Given the description of an element on the screen output the (x, y) to click on. 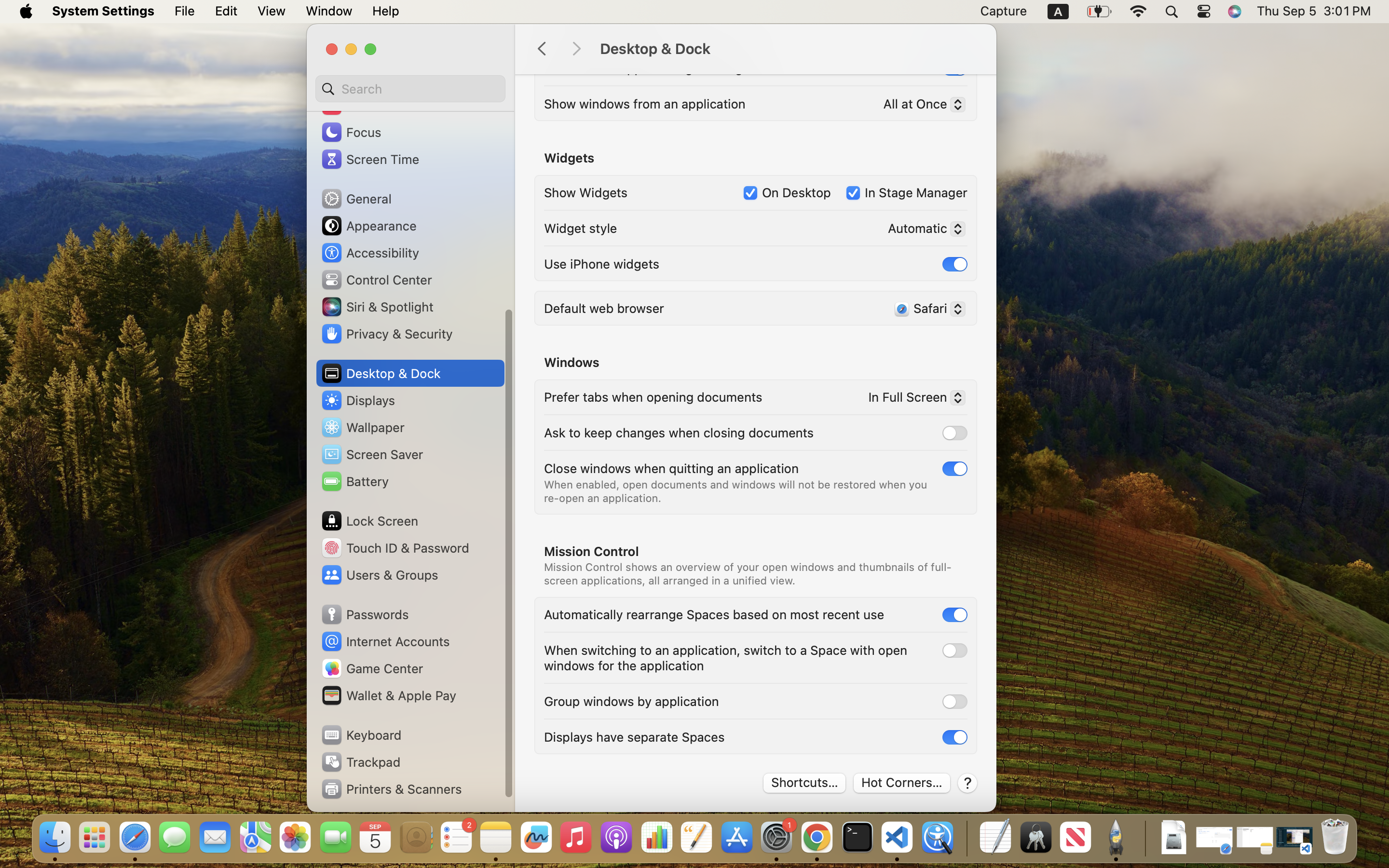
Trackpad Element type: AXStaticText (360, 761)
Desktop & Dock Element type: AXStaticText (788, 49)
Control Center Element type: AXStaticText (376, 279)
When enabled, open documents and windows will not be restored when you re-open an application. Element type: AXStaticText (736, 490)
Battery Element type: AXStaticText (354, 480)
